Given the description of an element on the screen output the (x, y) to click on. 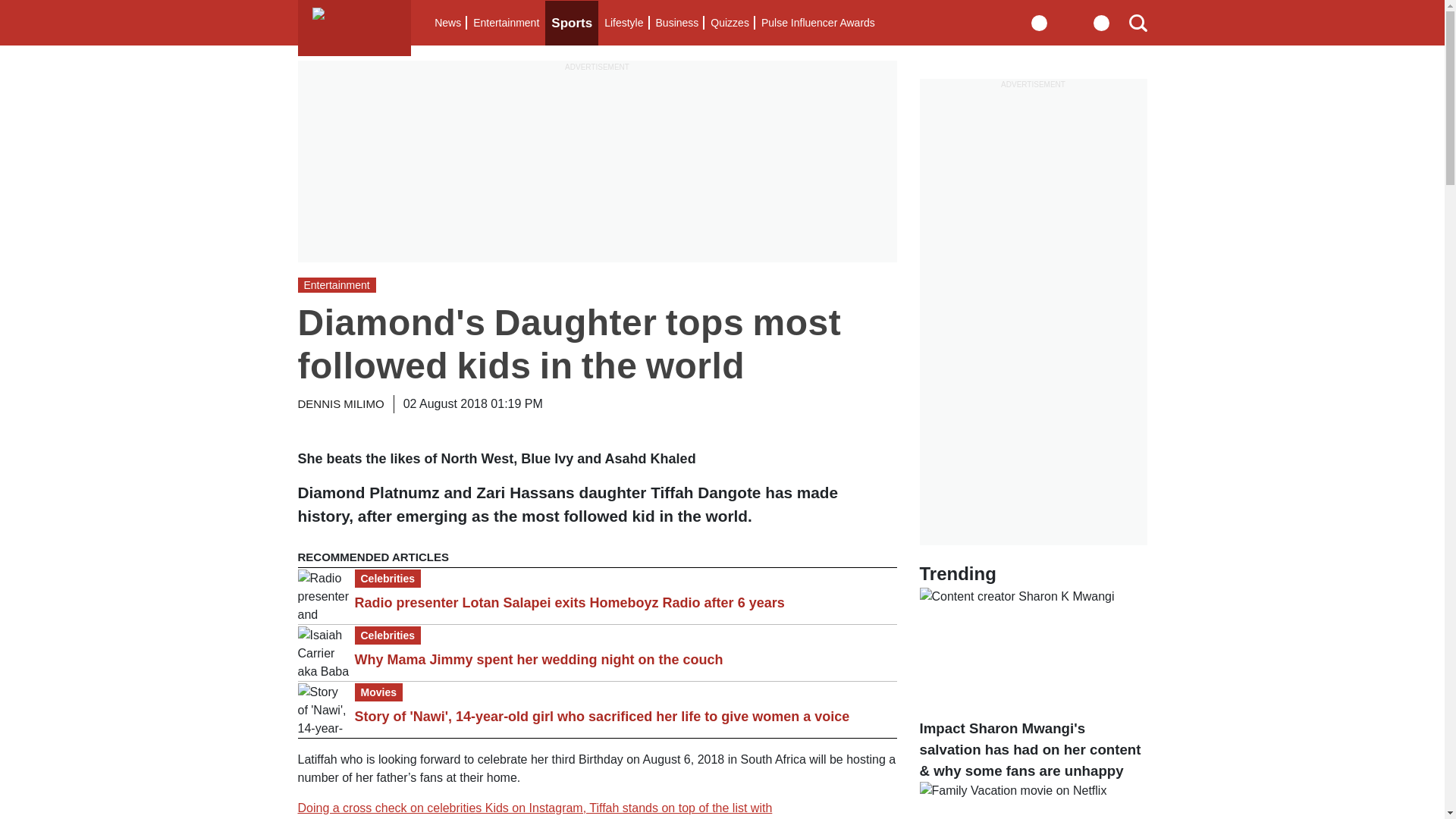
Pulse Influencer Awards (817, 22)
Lifestyle (623, 22)
Business (676, 22)
Quizzes (729, 22)
Entertainment (505, 22)
Sports (571, 22)
